Given the description of an element on the screen output the (x, y) to click on. 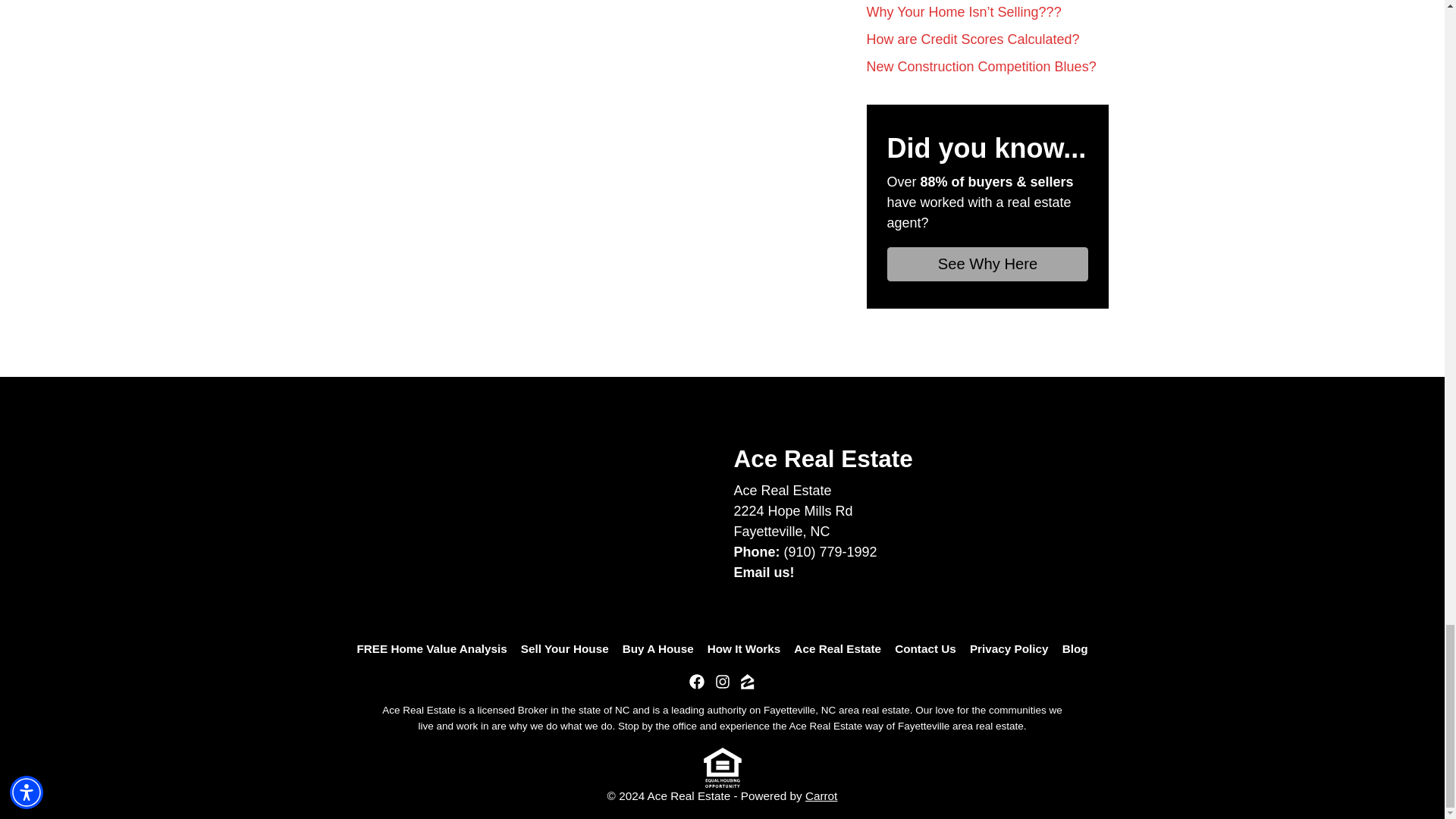
Email us! (763, 572)
FREE Home Value Analysis (431, 649)
New Construction Competition Blues? (981, 66)
How are Credit Scores Calculated? (972, 38)
Sell Your House (564, 649)
See Why Here (987, 264)
